Given the description of an element on the screen output the (x, y) to click on. 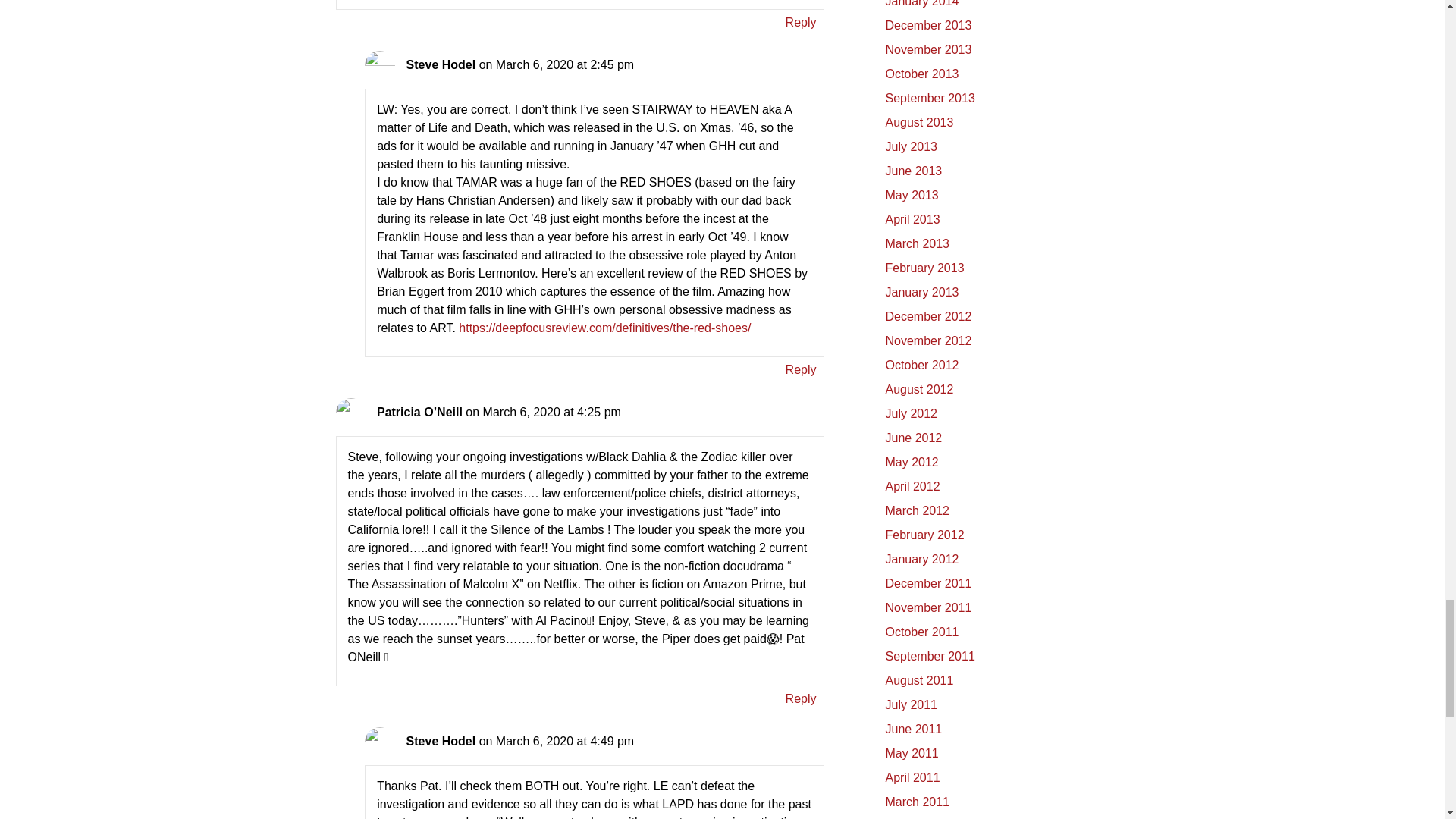
Reply (801, 698)
Reply (801, 22)
Reply (801, 369)
